Given the description of an element on the screen output the (x, y) to click on. 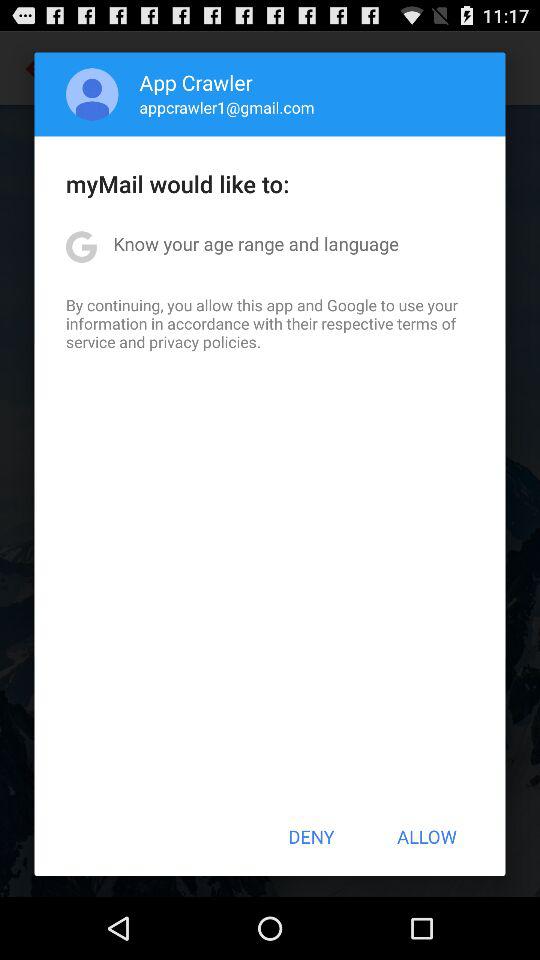
turn off the app above the mymail would like item (92, 94)
